Given the description of an element on the screen output the (x, y) to click on. 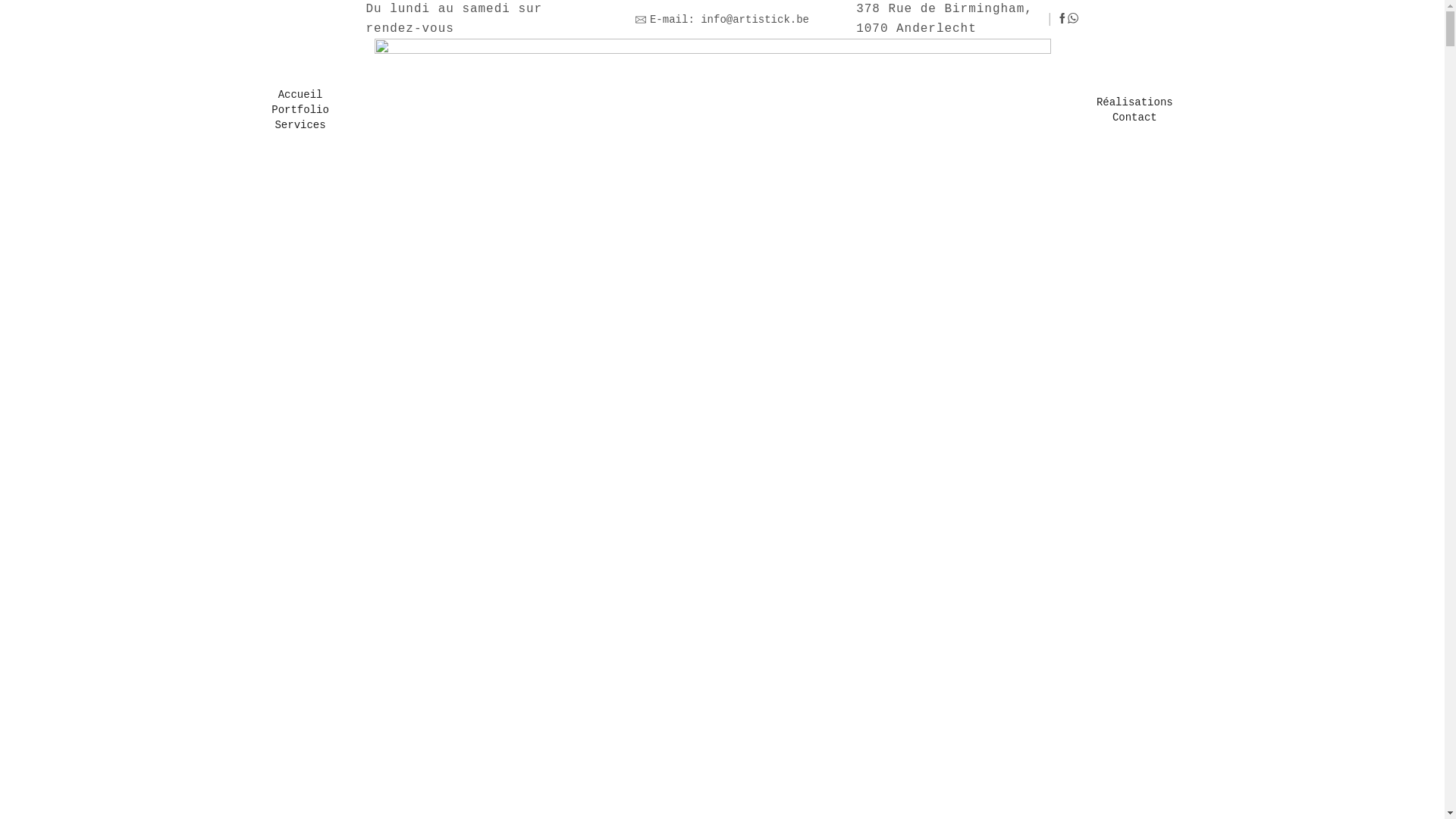
Portfolio Element type: text (300, 109)
Accueil Element type: text (300, 94)
Services Element type: text (299, 125)
Whatsapp Element type: hover (1072, 18)
Contact Element type: text (1134, 117)
Facebook Element type: hover (1062, 18)
